Given the description of an element on the screen output the (x, y) to click on. 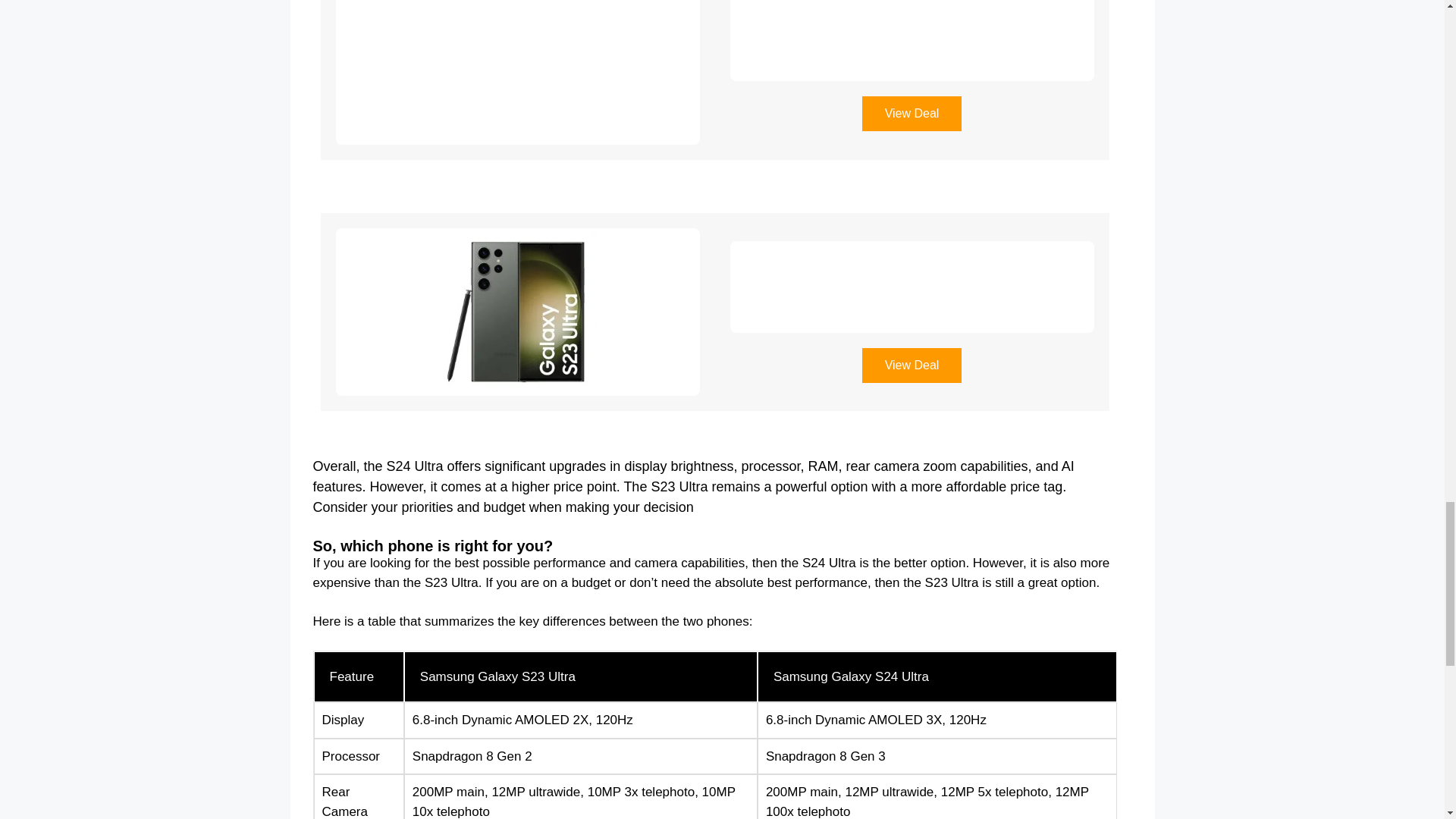
View Deal (911, 113)
View Deal (911, 365)
